Given the description of an element on the screen output the (x, y) to click on. 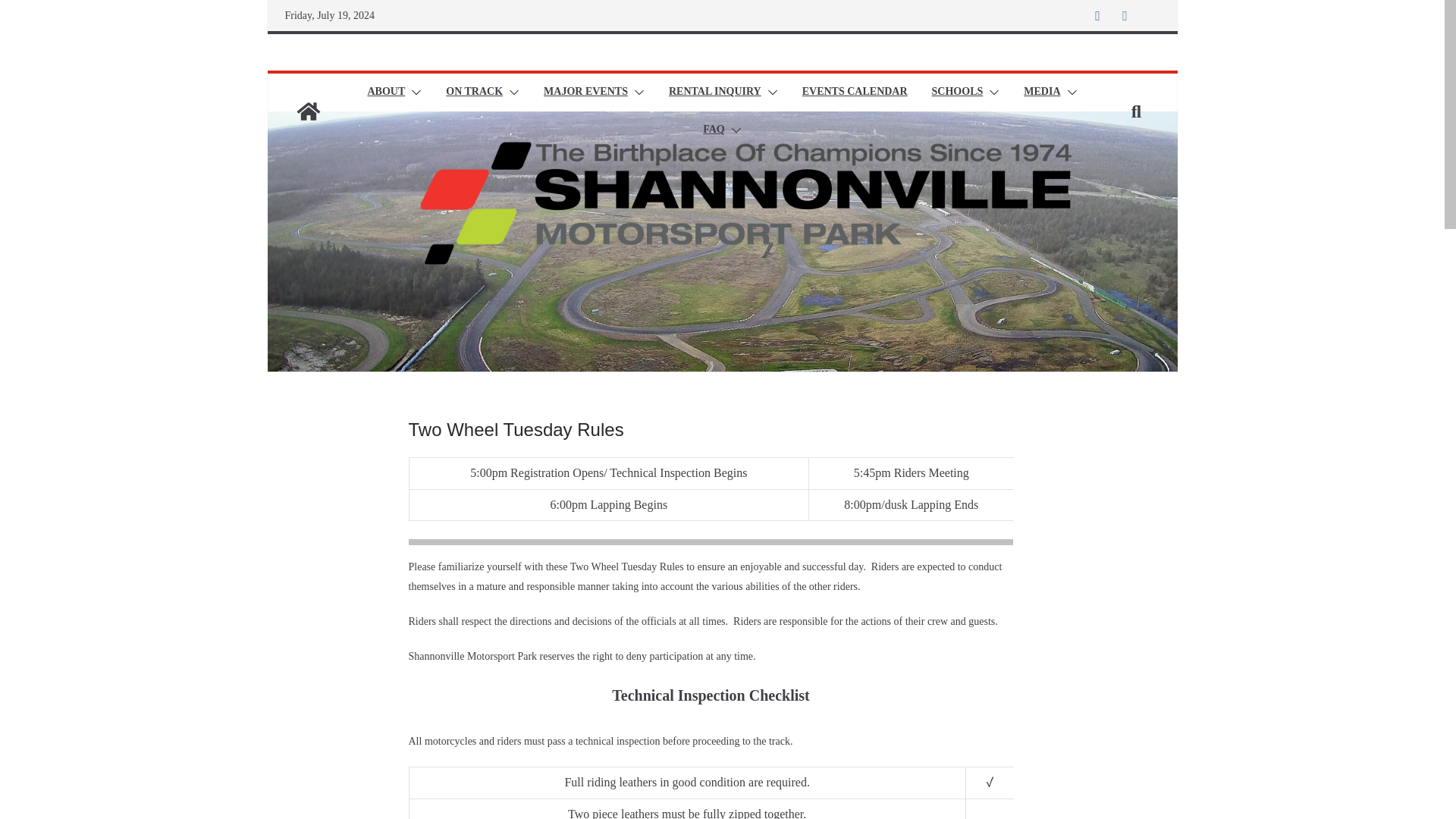
ABOUT (385, 92)
MAJOR EVENTS (585, 92)
EVENTS CALENDAR (854, 92)
RENTAL INQUIRY (714, 92)
Shannonville Motorsport Park (307, 111)
ON TRACK (473, 92)
SCHOOLS (957, 92)
